Given the description of an element on the screen output the (x, y) to click on. 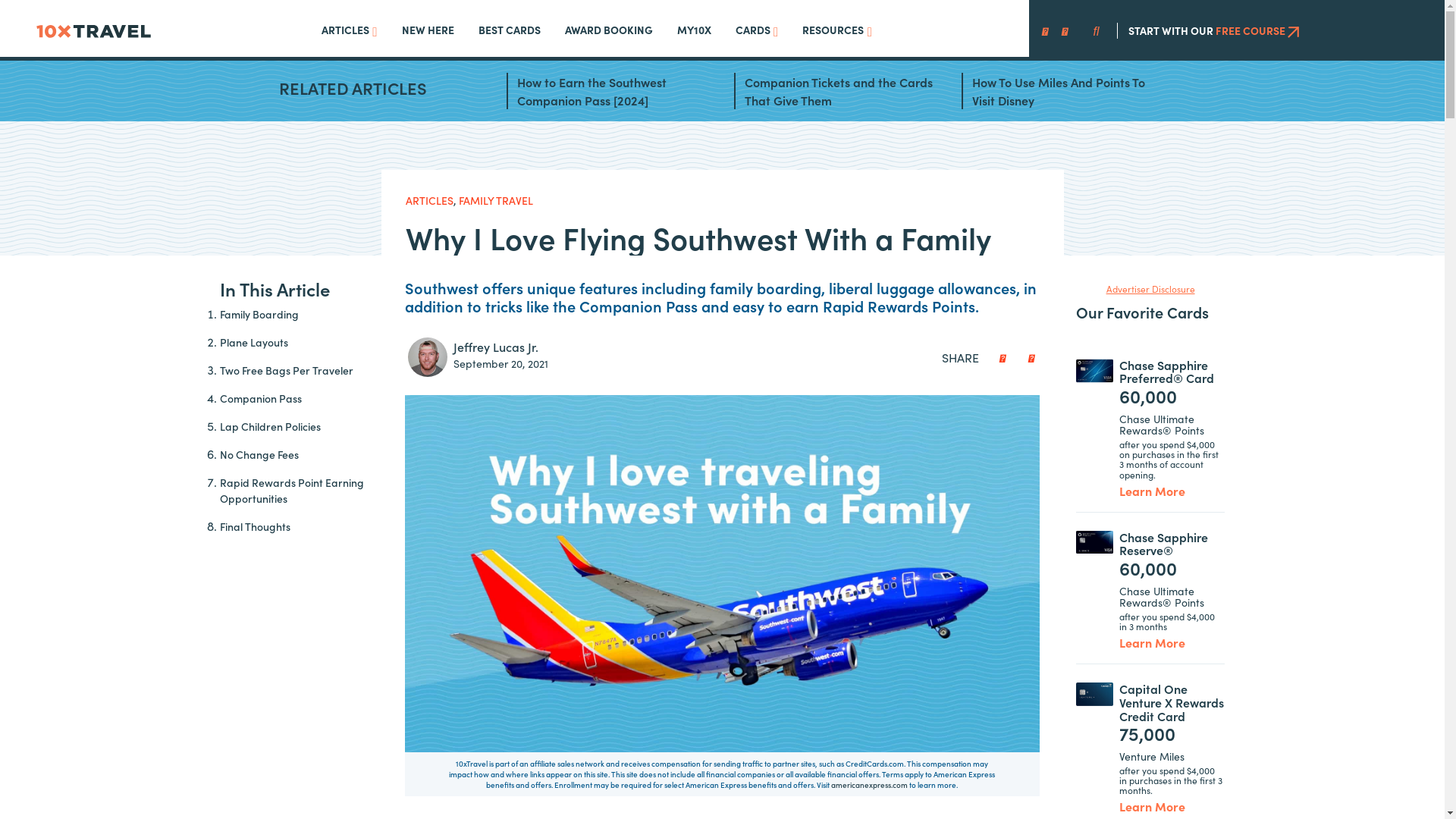
Learn More Element type: text (1152, 490)
ARTICLES Element type: text (428, 199)
RESOURCES Element type: text (837, 31)
CARDS Element type: text (756, 31)
americanexpress.com Element type: text (869, 784)
BEST CARDS Element type: text (509, 29)
10xTravel Element type: hover (93, 27)
Rapid Rewards Point Earning Opportunities Element type: text (299, 490)
Learn More Element type: text (1152, 805)
Companion Pass Element type: text (299, 398)
Lap Children Policies Element type: text (299, 426)
No Change Fees Element type: text (299, 454)
Advertiser Disclosure Element type: text (1150, 288)
ARTICLES Element type: text (349, 31)
NEW HERE Element type: text (427, 29)
Final Thoughts Element type: text (299, 526)
How to Earn the Southwest Companion Pass [2024] Element type: text (611, 90)
How To Use Miles And Points To Visit Disney Element type: text (1066, 90)
Learn More Element type: text (1152, 641)
Companion Tickets and the Cards That Give Them Element type: text (839, 90)
AWARD BOOKING Element type: text (608, 29)
FAMILY TRAVEL Element type: text (495, 199)
MY10X Element type: text (694, 29)
Family Boarding Element type: text (299, 314)
Two Free Bags Per Traveler Element type: text (299, 370)
Jeffrey Lucas Jr. Element type: text (495, 346)
START WITH OUR FREE COURSE Element type: text (1213, 30)
Capital One Venture X Rewards Credit Card Element type: text (1171, 701)
Plane Layouts Element type: text (299, 342)
